Given the description of an element on the screen output the (x, y) to click on. 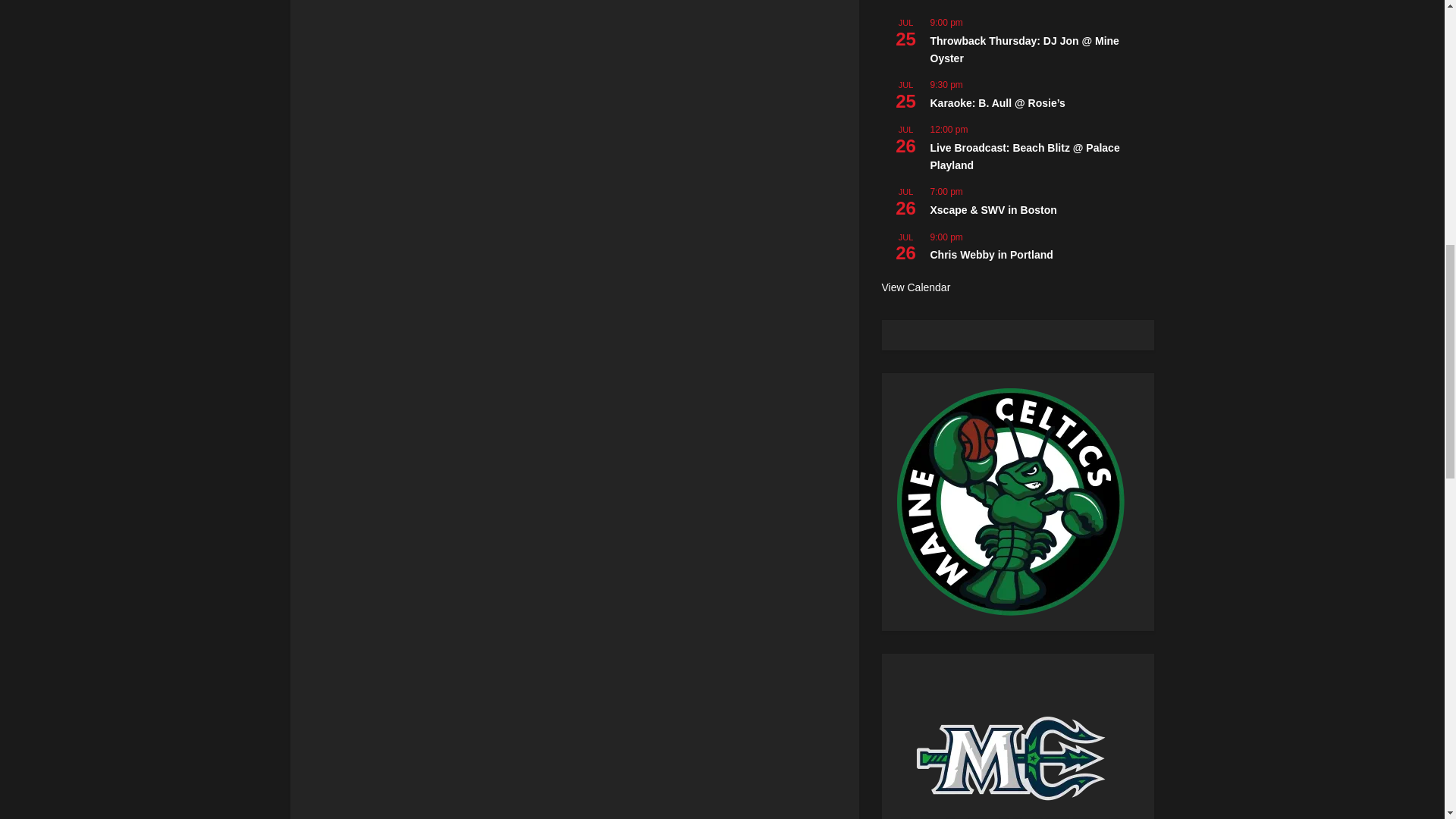
Chris Webby in Portland (991, 254)
View more events. (915, 287)
